Given the description of an element on the screen output the (x, y) to click on. 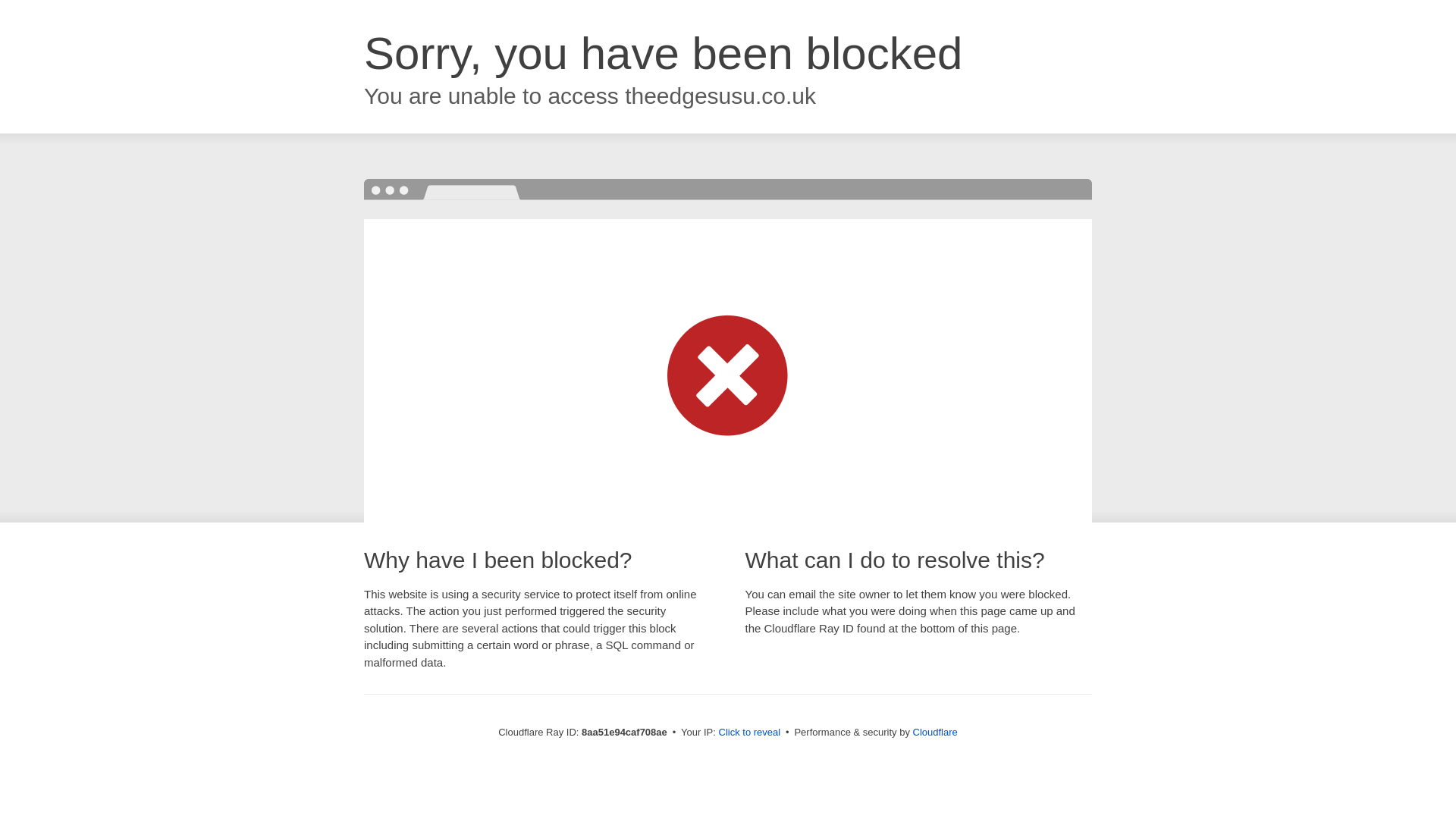
Click to reveal (749, 732)
Cloudflare (935, 731)
